Given the description of an element on the screen output the (x, y) to click on. 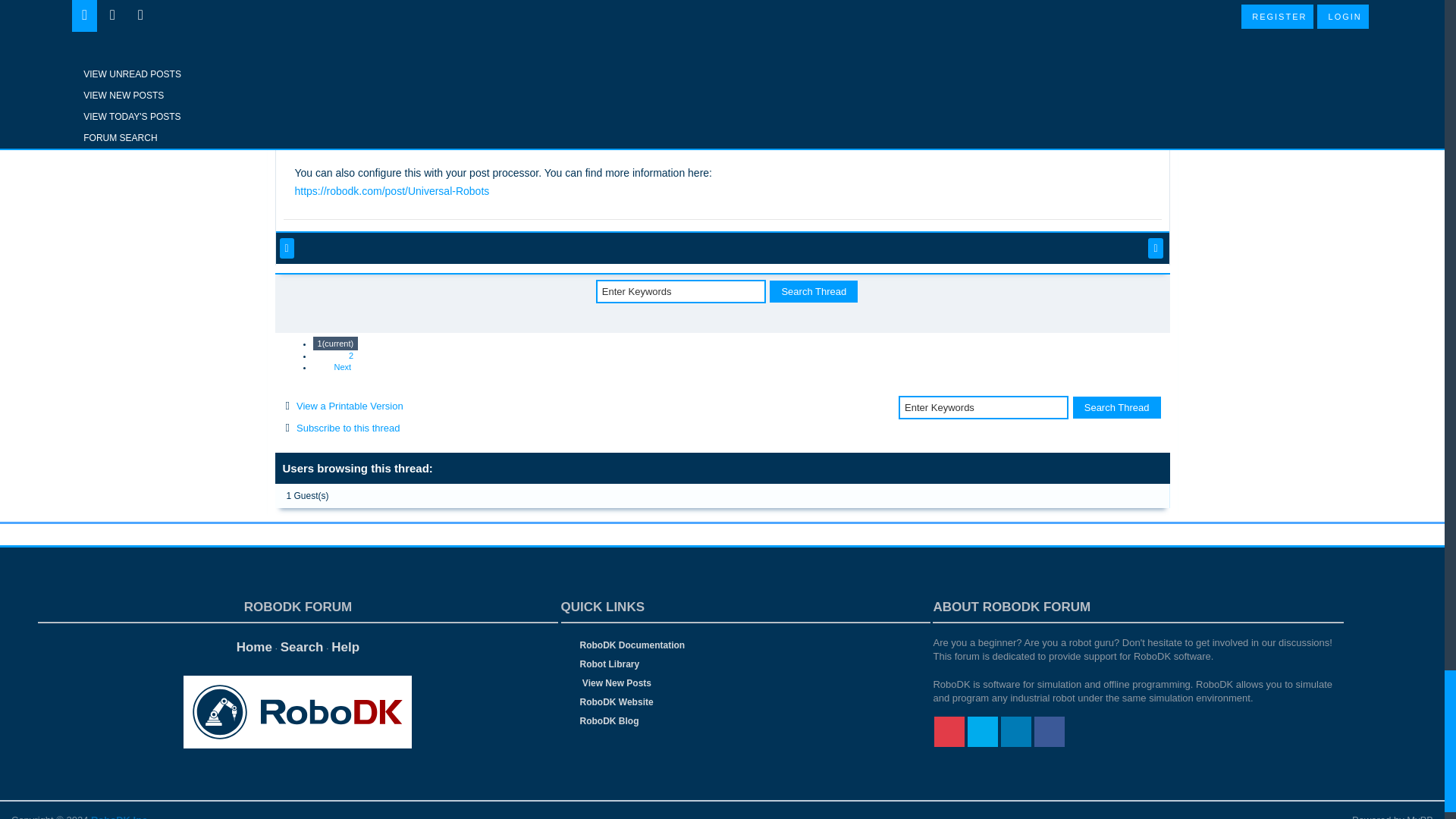
Enter Keywords (983, 407)
Enter Keywords (680, 291)
Search Thread (1116, 407)
Search Thread (813, 291)
